Given the description of an element on the screen output the (x, y) to click on. 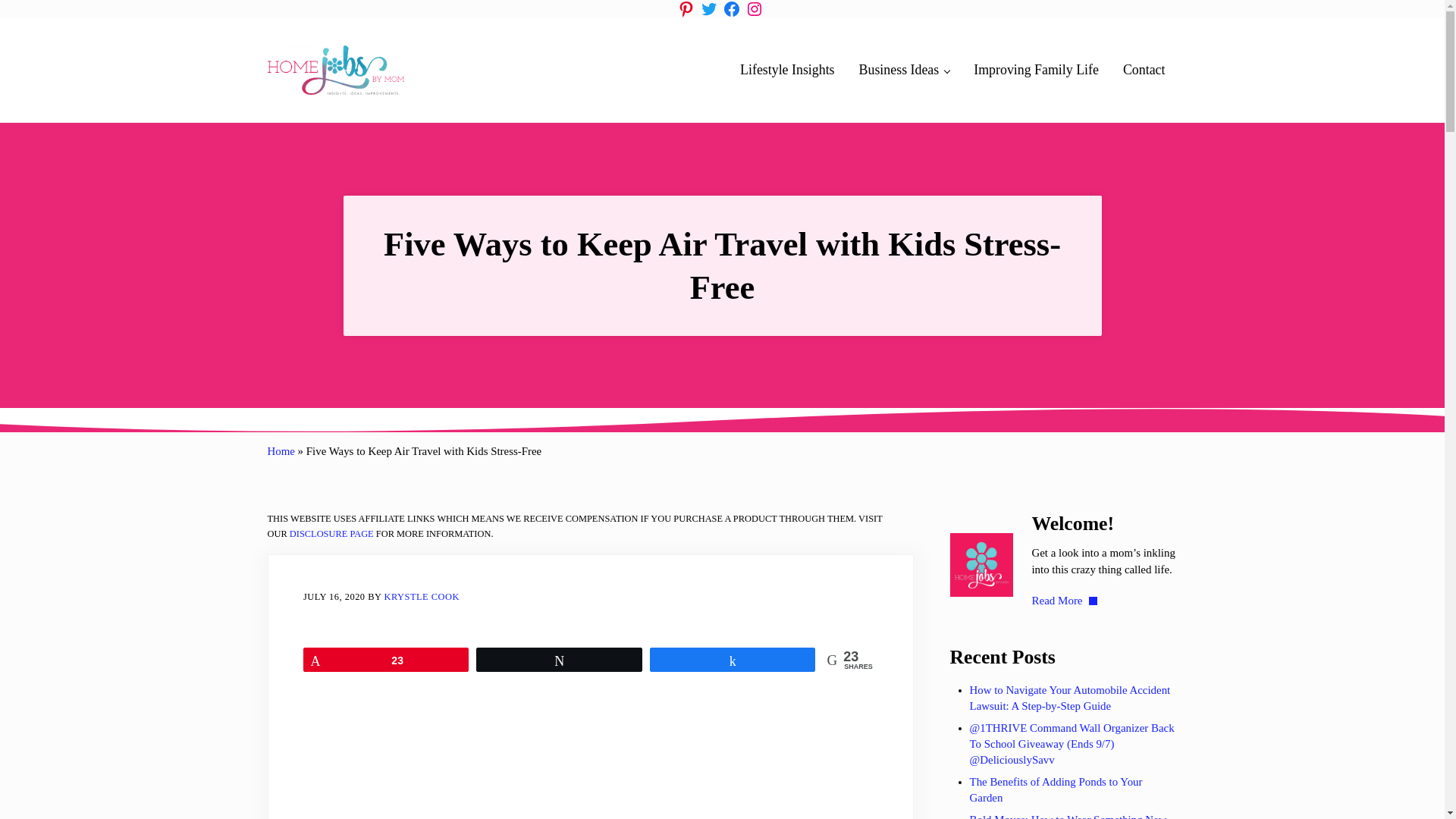
Pinterest (685, 9)
DISCLOSURE PAGE (331, 533)
Business Ideas (904, 69)
Twitter (707, 9)
Lifestyle Insights (787, 69)
Facebook (730, 9)
Contact (1143, 69)
KRYSTLE COOK (422, 596)
Instagram (753, 9)
Home (280, 451)
Improving Family Life (1035, 69)
23 (386, 659)
